Given the description of an element on the screen output the (x, y) to click on. 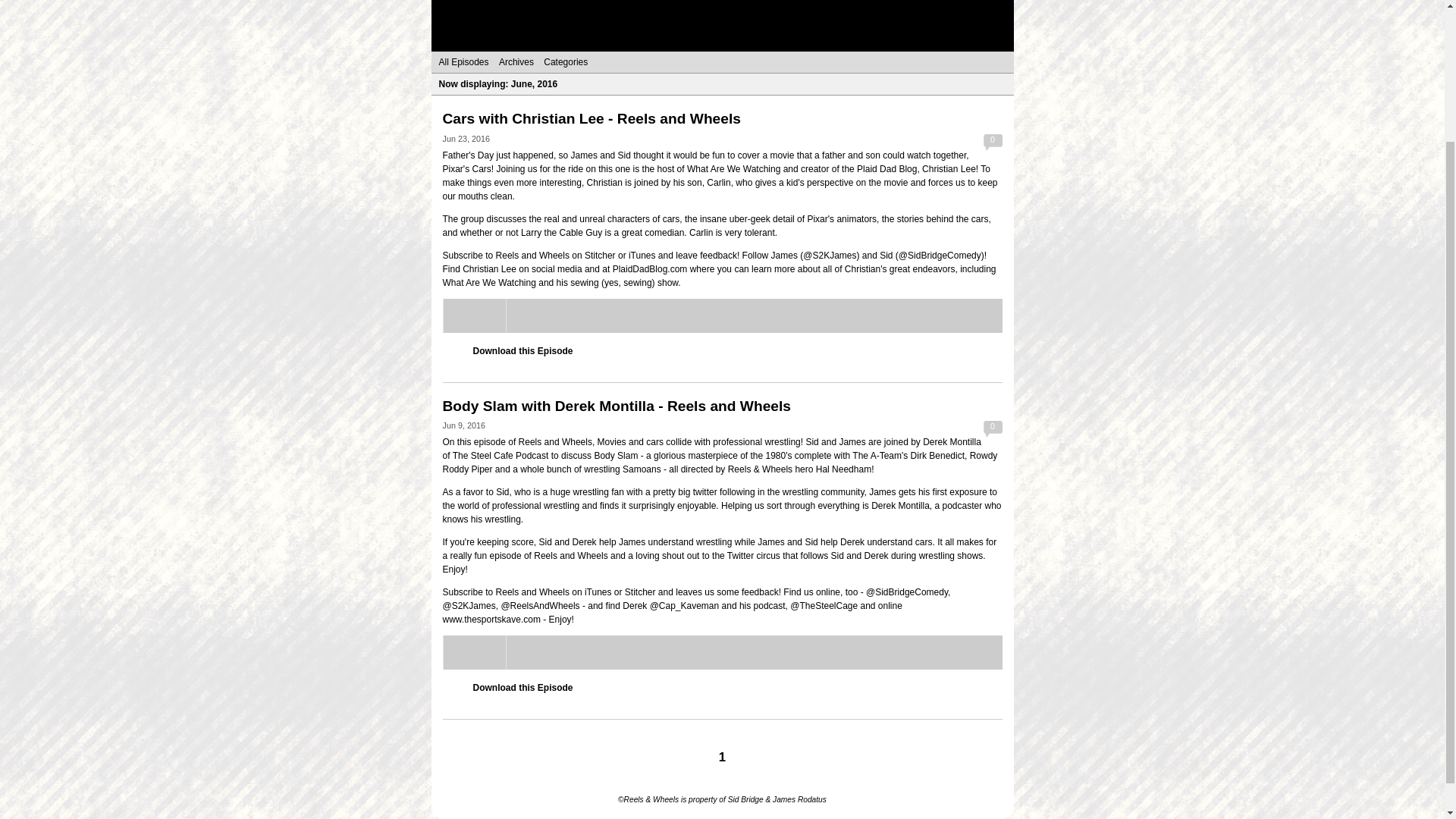
Libsyn Player (722, 652)
Libsyn Player (722, 315)
